Given the description of an element on the screen output the (x, y) to click on. 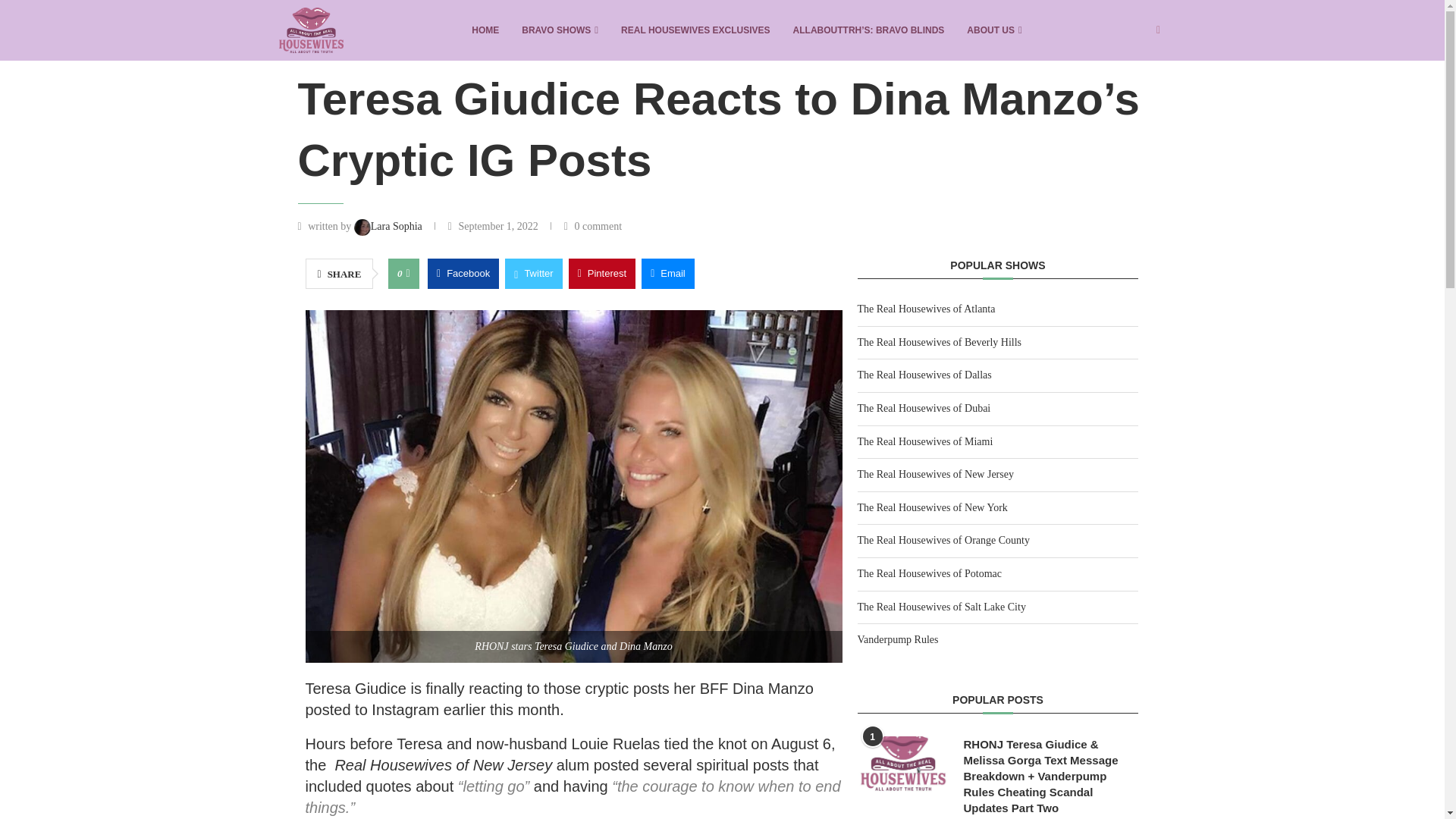
BRAVO SHOWS (559, 30)
